Given the description of an element on the screen output the (x, y) to click on. 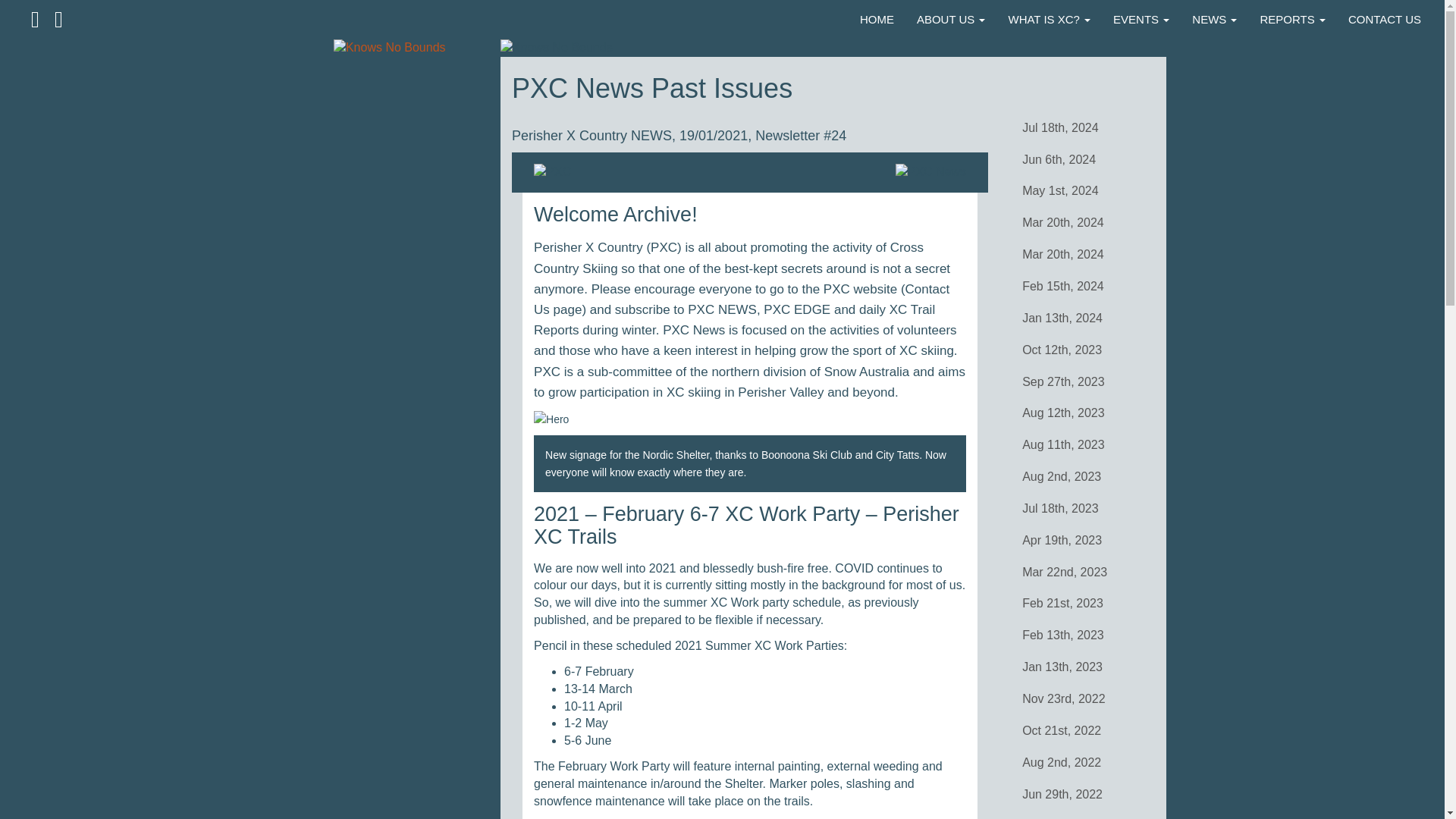
NEWS (1213, 19)
WHAT IS XC? (1048, 19)
EVENTS (1141, 19)
ABOUT US (951, 19)
HOME (876, 19)
